Given the description of an element on the screen output the (x, y) to click on. 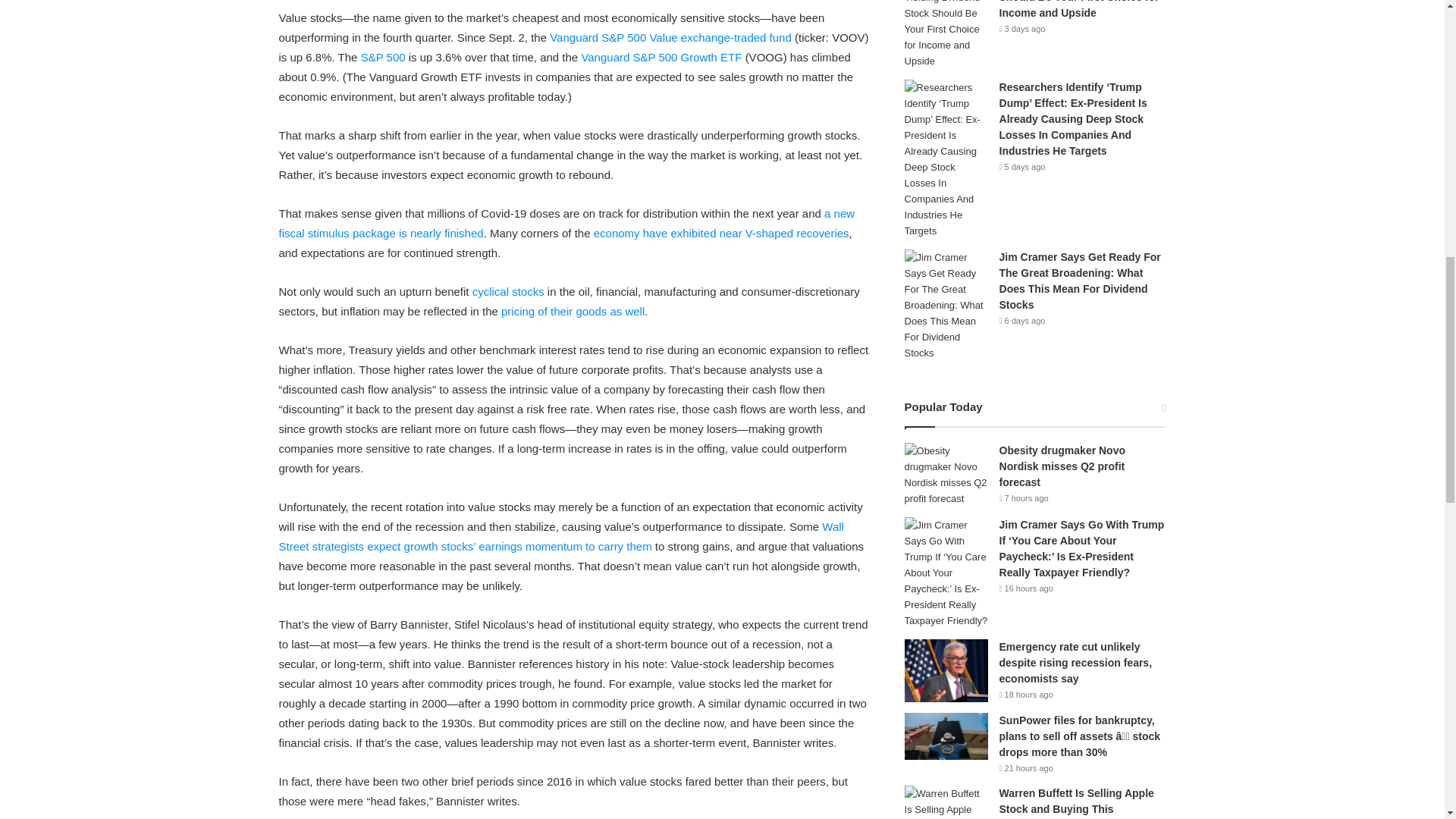
pricing of their goods as well (572, 310)
a new fiscal stimulus package is nearly finished (567, 223)
economy have exhibited near V-shaped recoveries (721, 232)
cyclical stocks (507, 291)
